Given the description of an element on the screen output the (x, y) to click on. 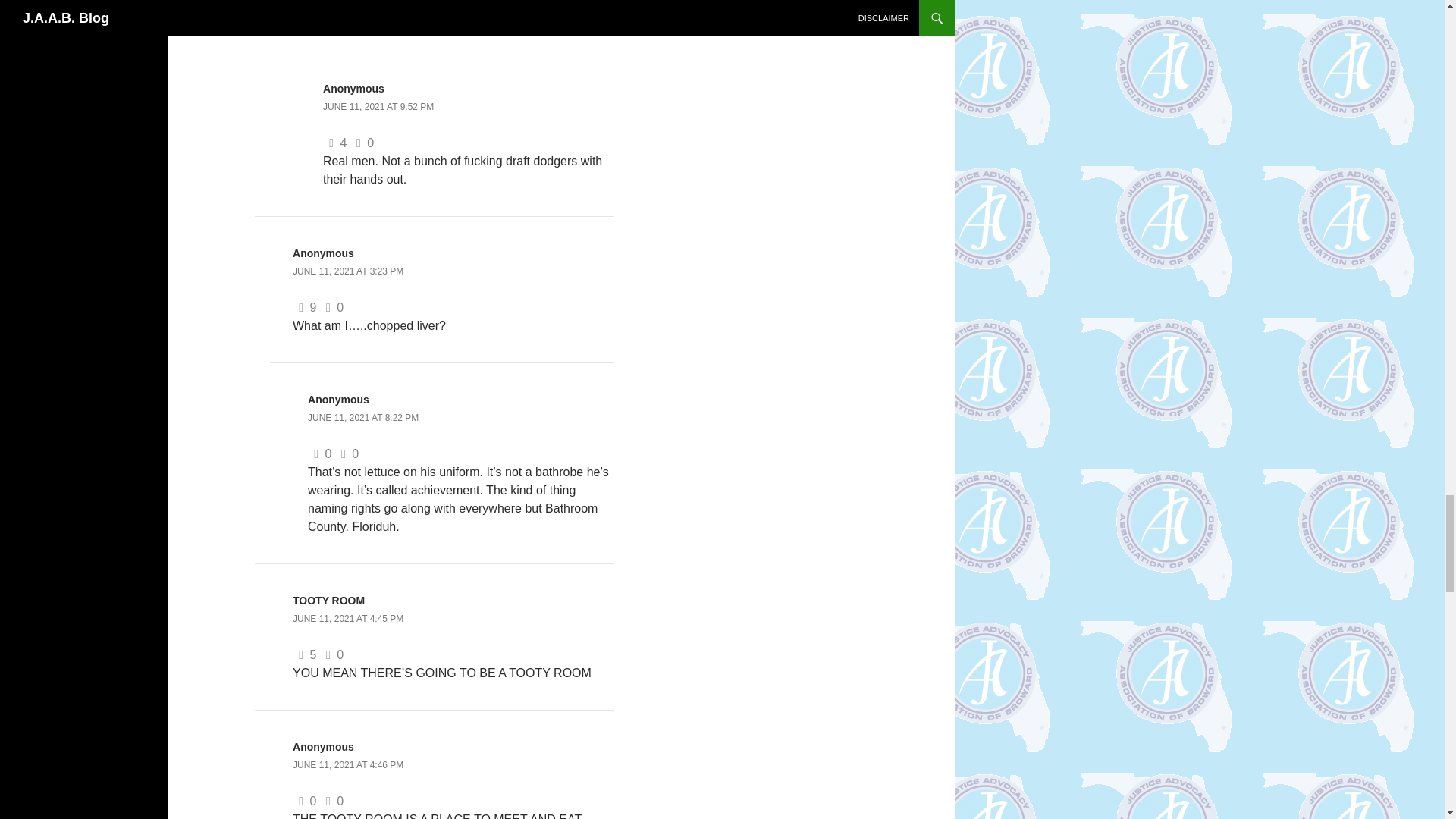
JUNE 11, 2021 AT 9:52 PM (378, 106)
JUNE 11, 2021 AT 4:45 PM (347, 618)
JUNE 11, 2021 AT 8:22 PM (363, 417)
JUNE 11, 2021 AT 3:23 PM (347, 271)
JUNE 11, 2021 AT 4:46 PM (347, 765)
